Given the description of an element on the screen output the (x, y) to click on. 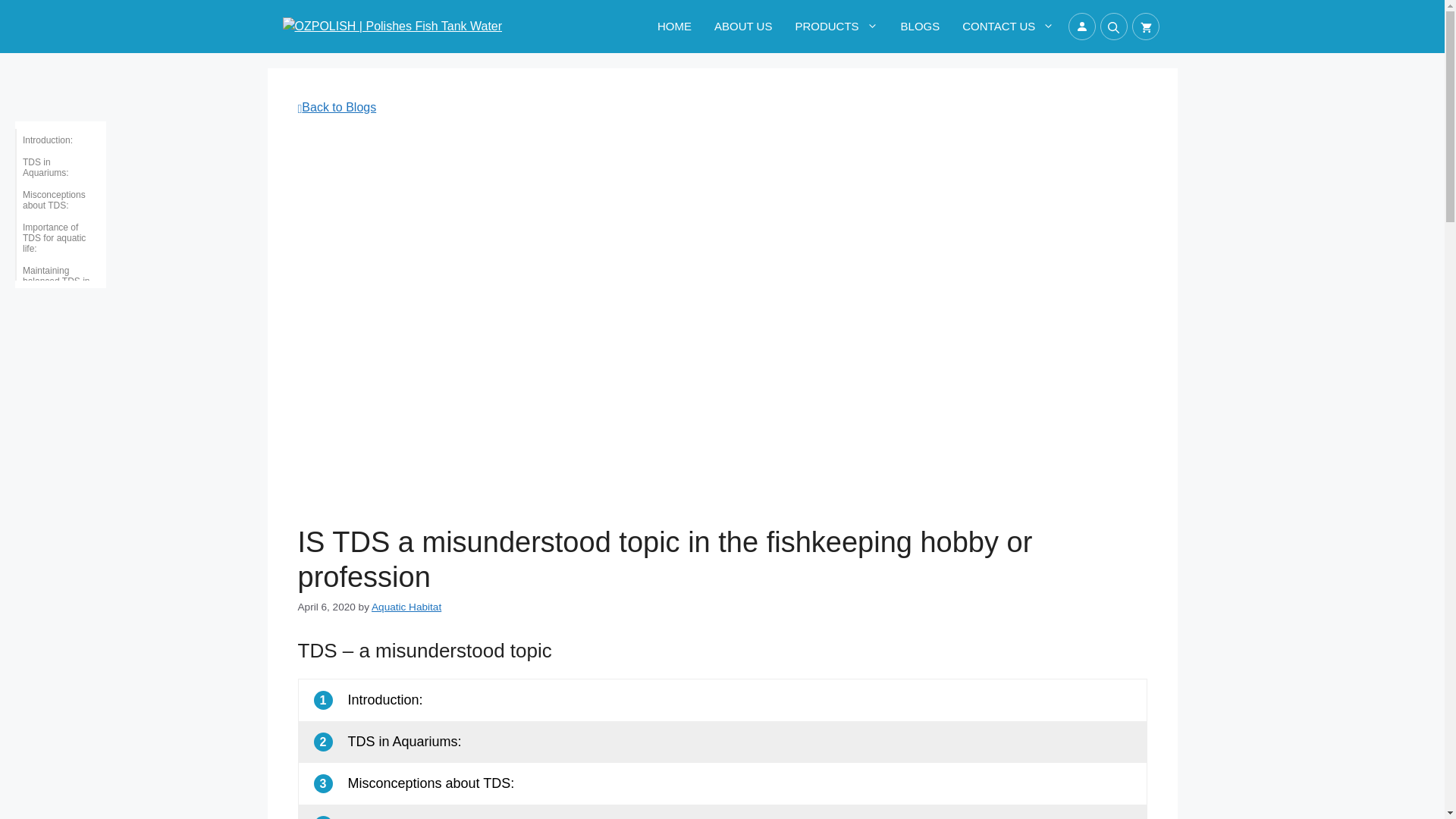
ABOUT US (743, 26)
PRODUCTS (835, 26)
Introduction: (43, 139)
Misconceptions about TDS: (430, 783)
TDS in Aquariums: (404, 741)
BLOGS (920, 26)
View your shopping cart (1145, 26)
TDS in Aquariums: (52, 166)
Misconceptions about TDS: (52, 199)
Importance of TDS for aquatic life: (52, 237)
Maintaining balanced TDS in aquariums: (52, 280)
View all posts by Aquatic Habitat (406, 606)
HOME (674, 26)
CONTACT US (1007, 26)
